Given the description of an element on the screen output the (x, y) to click on. 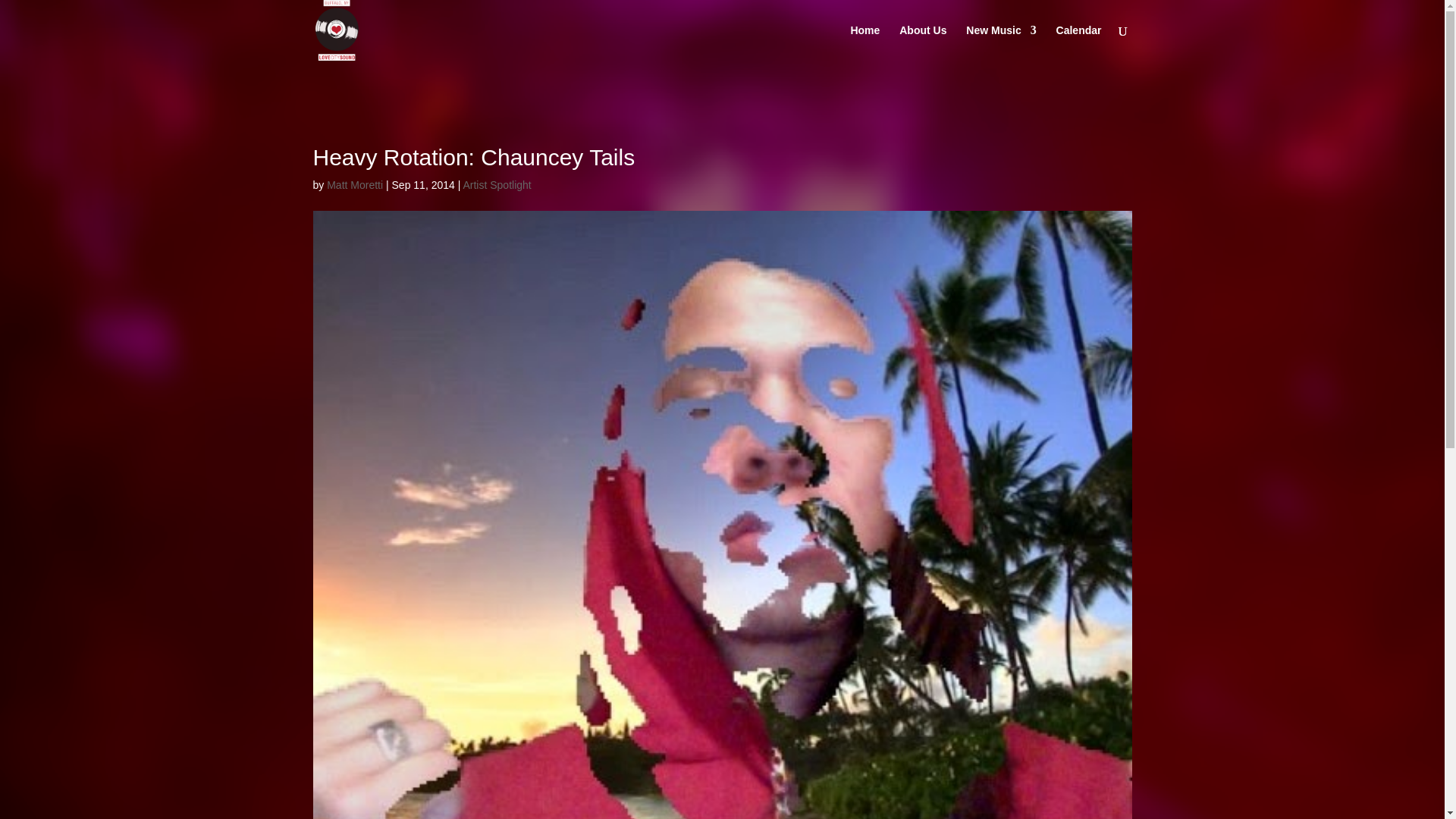
Matt Moretti (354, 184)
About Us (922, 42)
New Music (1000, 42)
Calendar (1079, 42)
Artist Spotlight (497, 184)
Posts by Matt Moretti (354, 184)
